Given the description of an element on the screen output the (x, y) to click on. 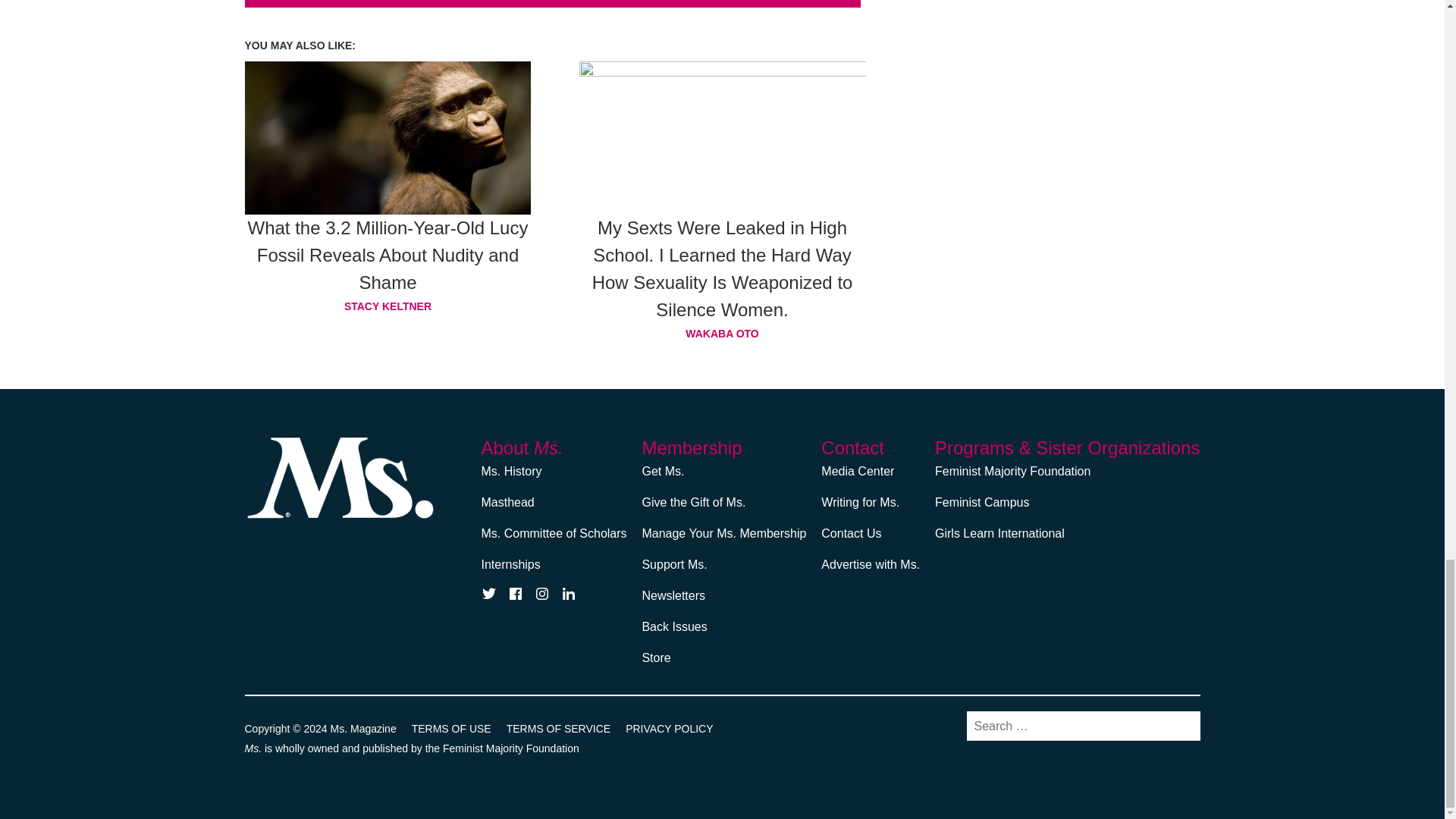
Search (1182, 725)
Posts by Stacy Keltner (387, 306)
Posts by Wakaba Oto (722, 333)
Search (1182, 725)
Search for: (1082, 726)
